Given the description of an element on the screen output the (x, y) to click on. 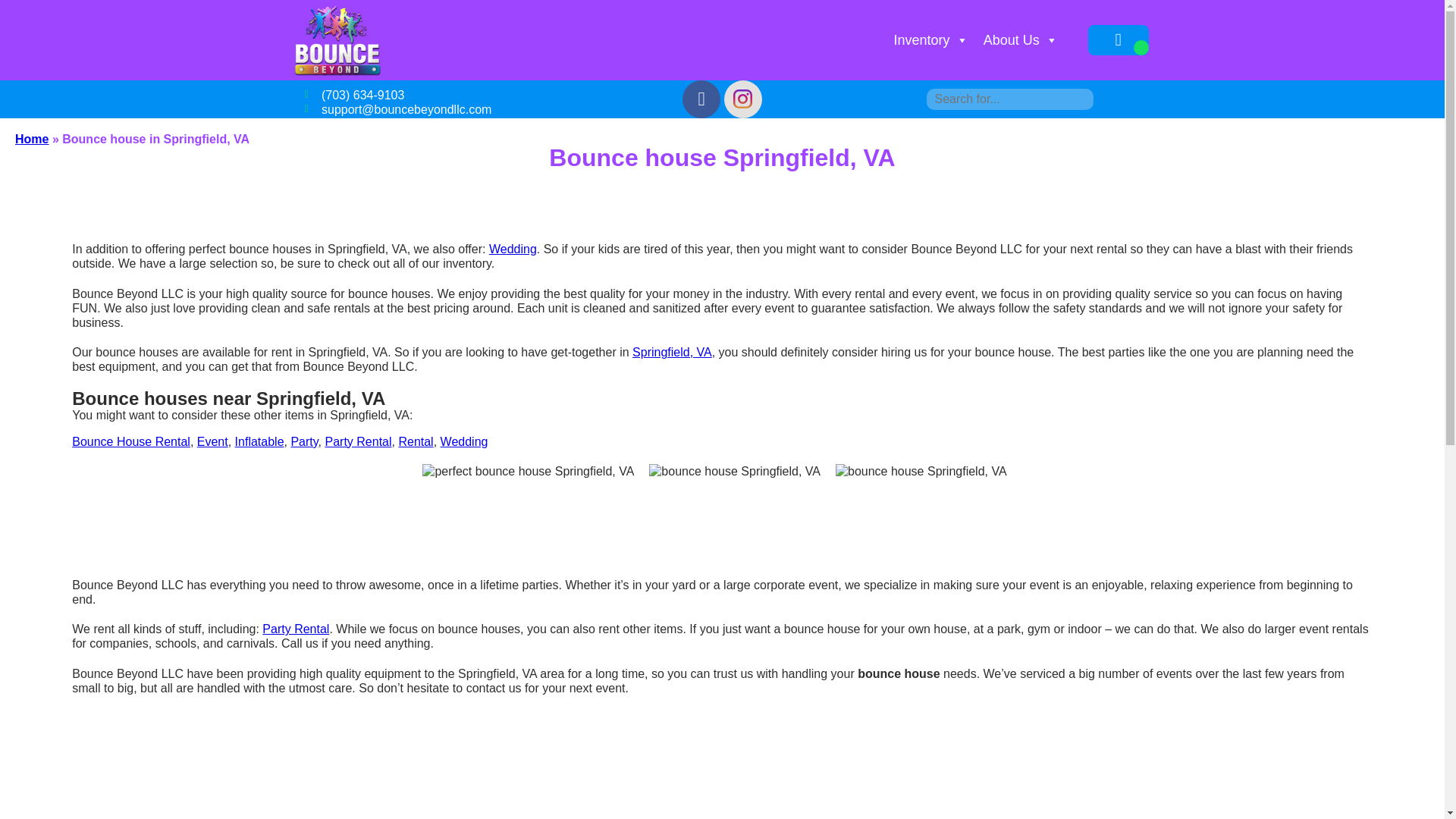
Rental (414, 440)
Party Rental (357, 440)
Inflatable (258, 440)
Home (31, 138)
Springfield, VA (671, 351)
Wedding (464, 440)
Wedding (513, 248)
Search (22, 9)
Party Rental (295, 628)
Bounce House Rental (130, 440)
About Us (1020, 40)
Inventory (930, 40)
Party (303, 440)
Event (212, 440)
